Given the description of an element on the screen output the (x, y) to click on. 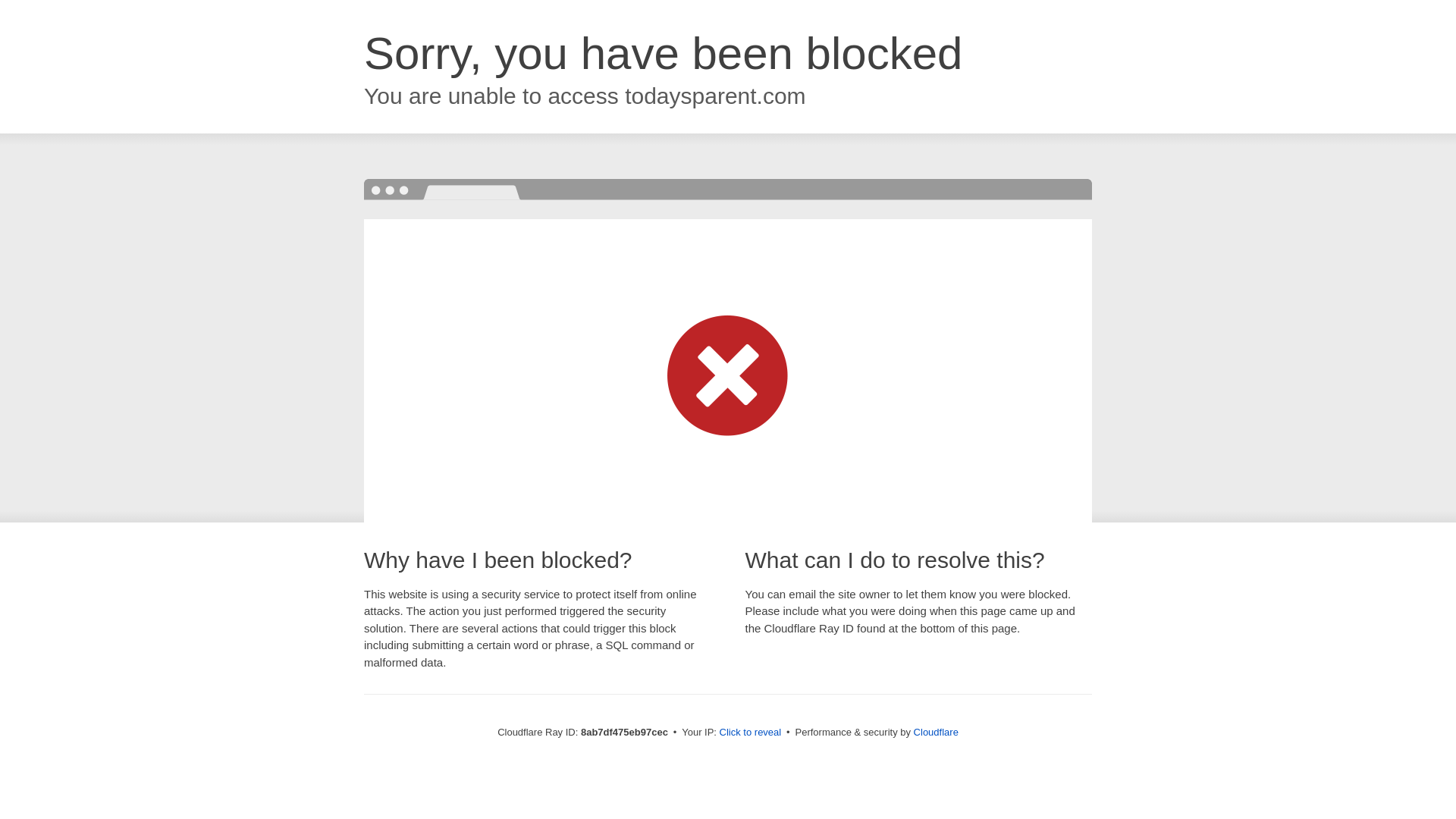
Click to reveal (750, 732)
Cloudflare (936, 731)
